Given the description of an element on the screen output the (x, y) to click on. 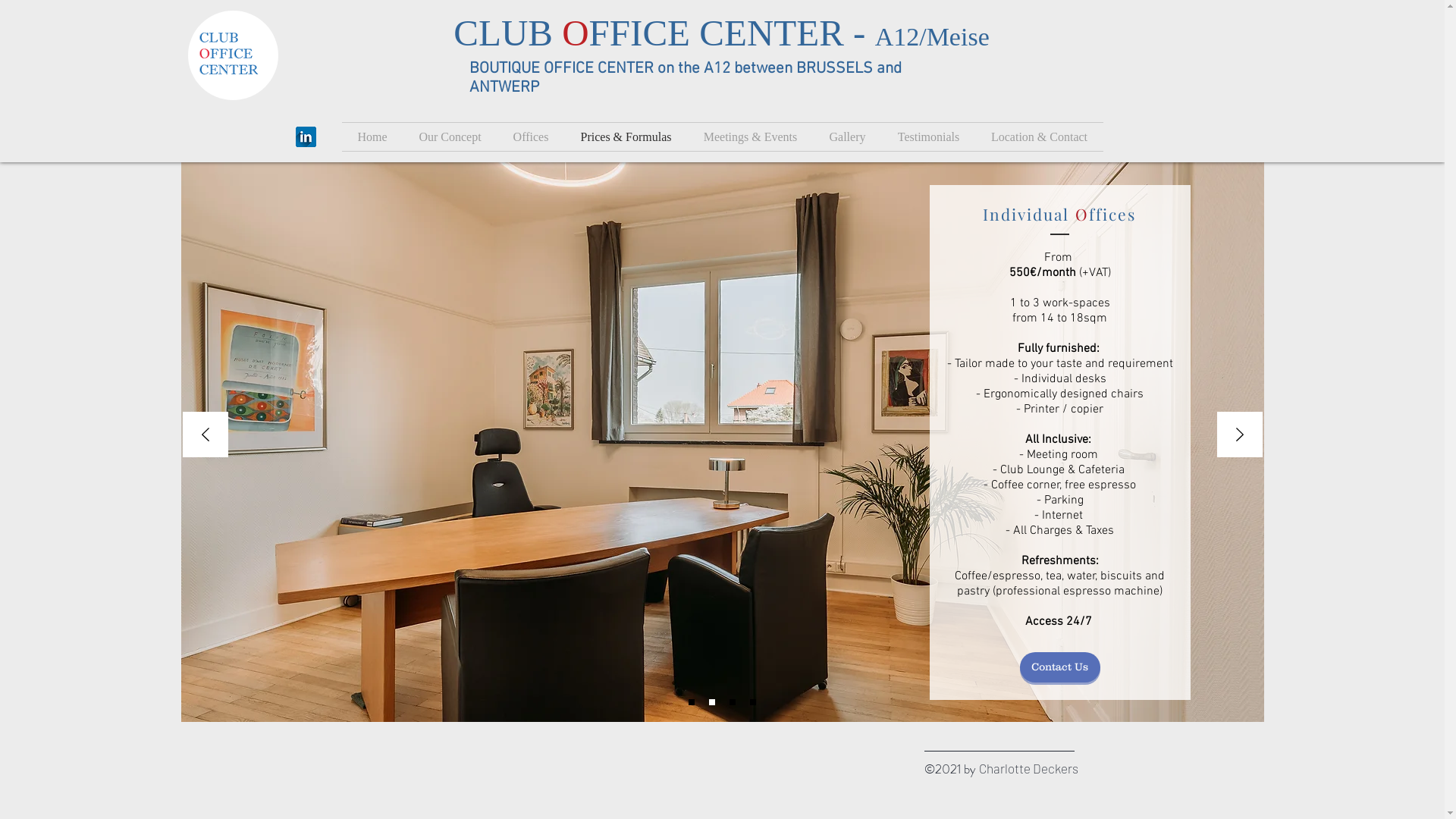
Home Element type: text (371, 136)
Gallery Element type: text (846, 136)
Our Concept Element type: text (450, 136)
Prices & Formulas Element type: text (625, 136)
Location & Contact Element type: text (1038, 136)
Offices Element type: text (530, 136)
Meetings & Events Element type: text (749, 136)
Testimonials Element type: text (928, 136)
